Given the description of an element on the screen output the (x, y) to click on. 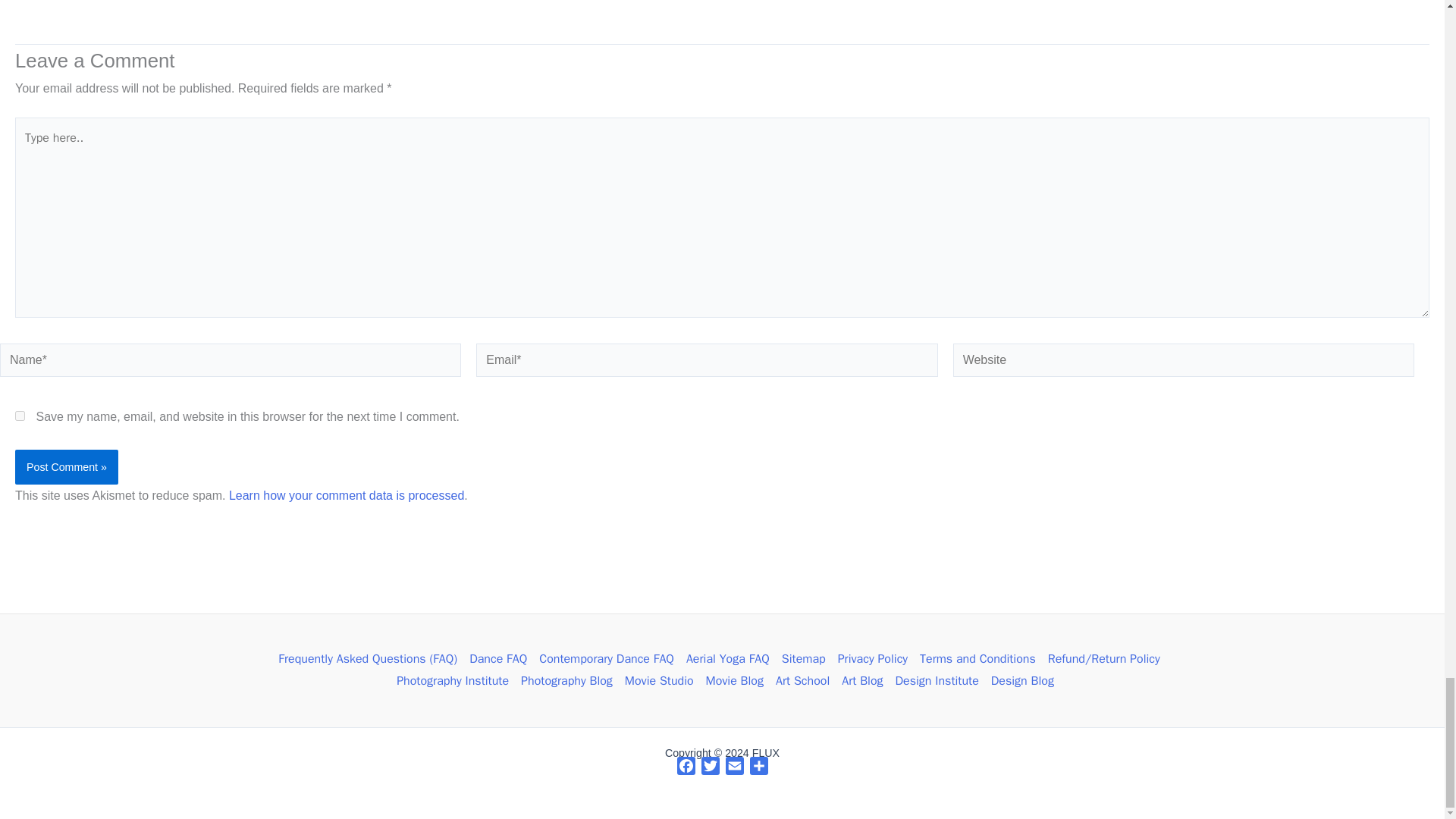
yes (19, 415)
